Given the description of an element on the screen output the (x, y) to click on. 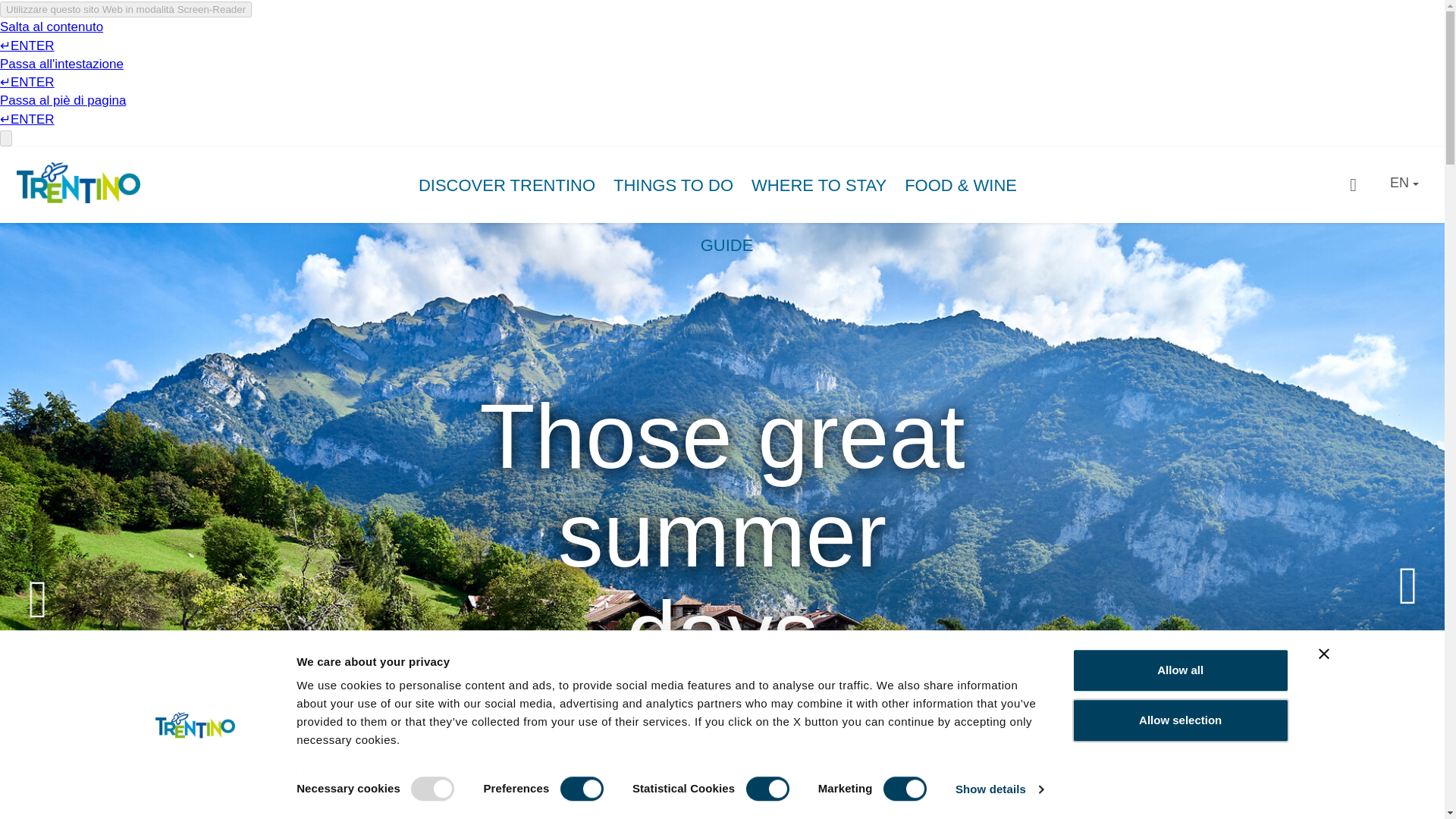
Allow all (1179, 670)
Allow selection (1179, 720)
Show details (998, 789)
DISCOVER TRENTINO (511, 181)
